Given the description of an element on the screen output the (x, y) to click on. 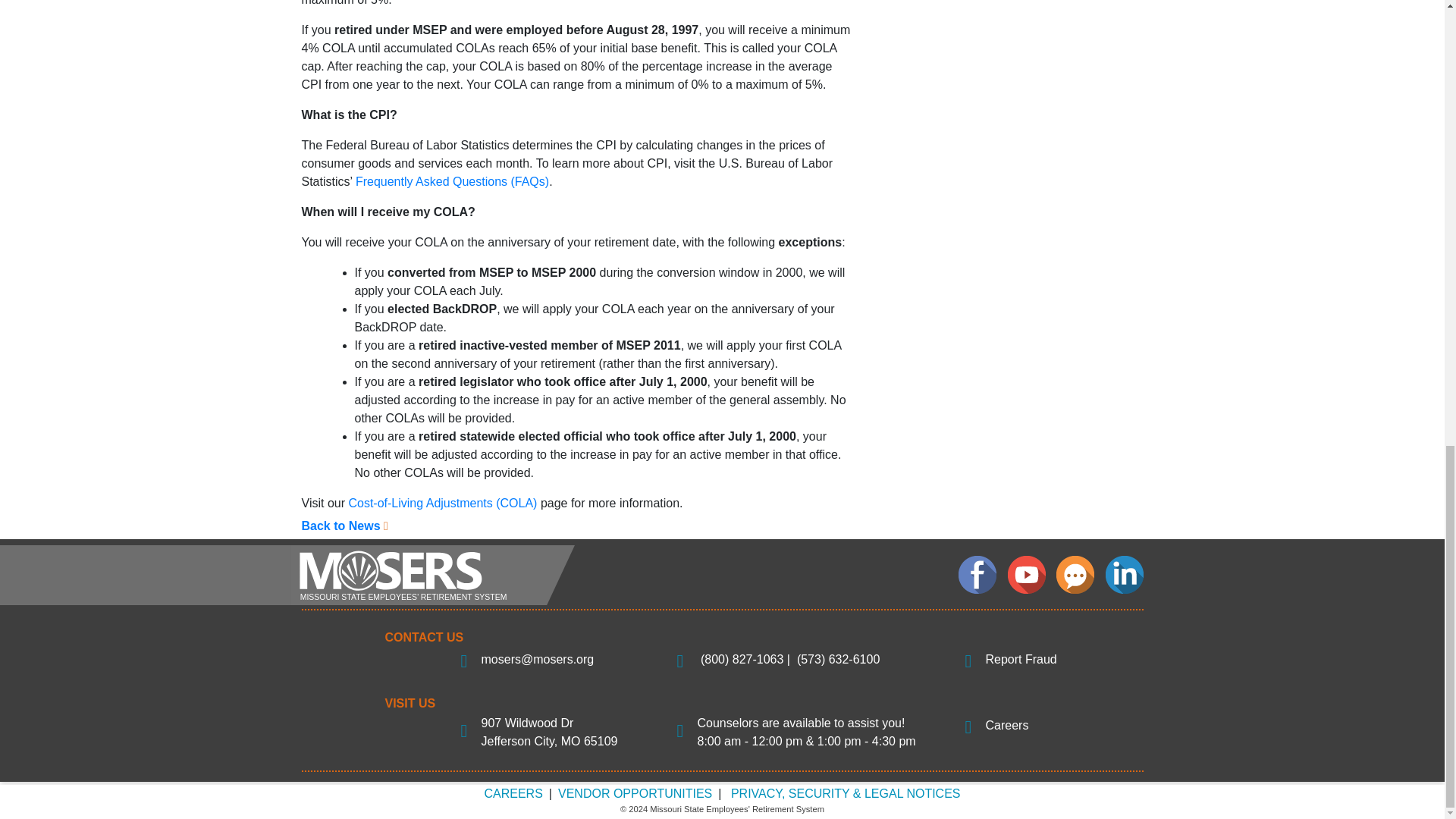
MOSERS Linkedin (1123, 574)
MOSERS You-Tube (1026, 574)
MOSERS Facebook (976, 574)
footer-logo (431, 574)
Rumor Central Blog (1075, 574)
footer-logo (431, 575)
